Given the description of an element on the screen output the (x, y) to click on. 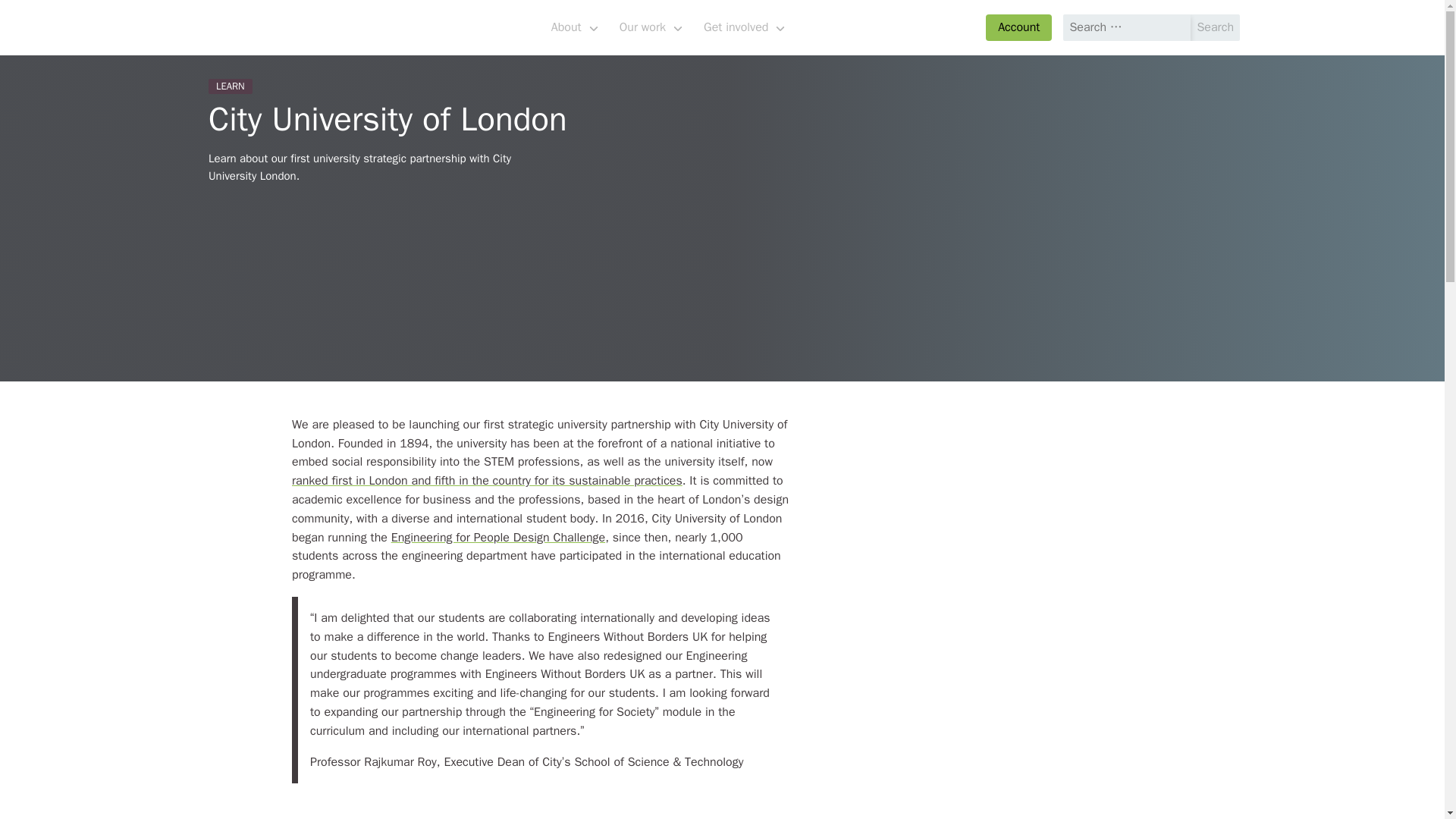
Search (1215, 27)
Get involved (743, 27)
About (573, 27)
Search (1215, 27)
Our work (650, 27)
